Given the description of an element on the screen output the (x, y) to click on. 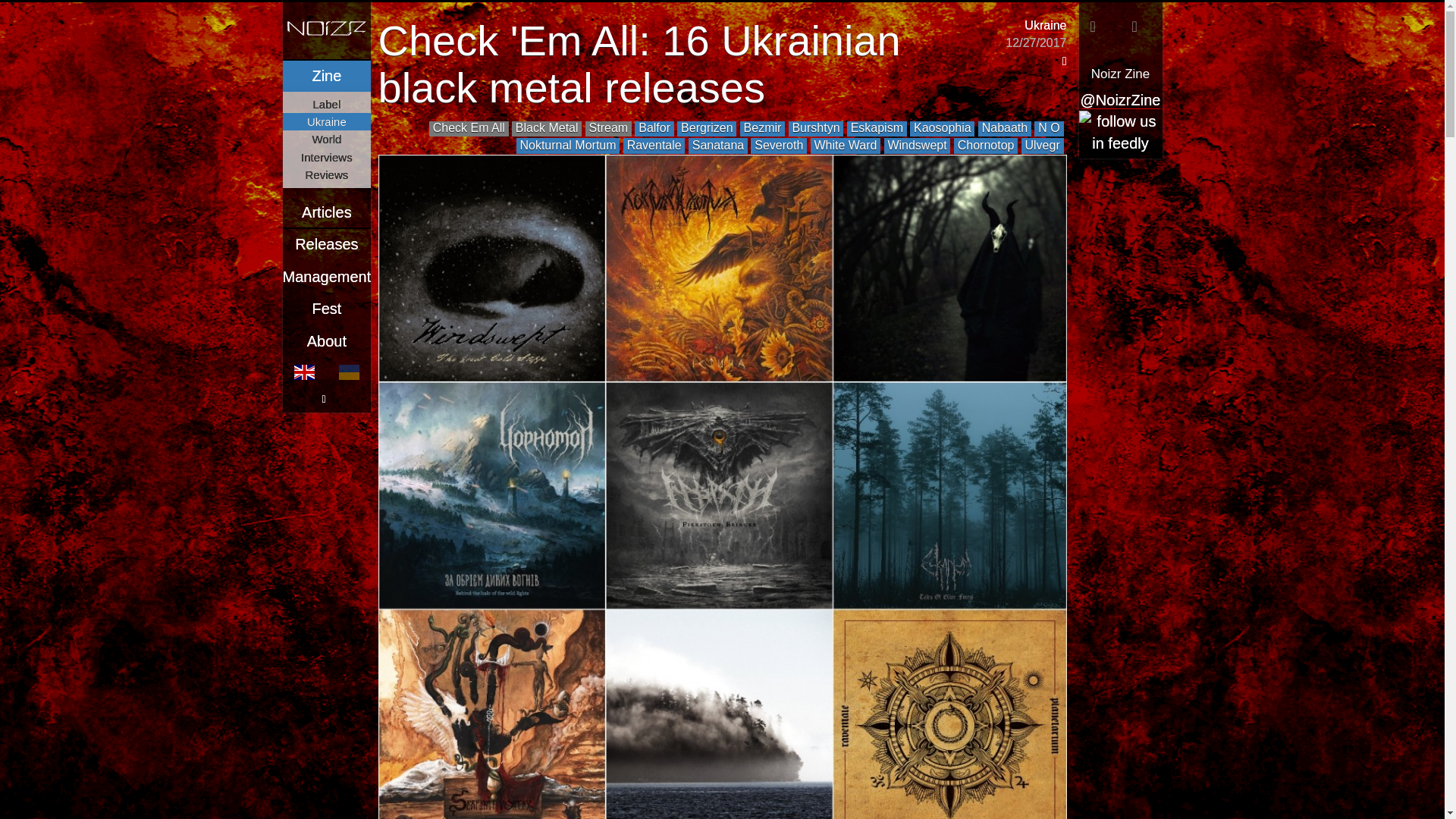
Reviews (326, 174)
Label (326, 104)
English (304, 372)
Fest (326, 308)
Releases (326, 244)
Ukraine (1045, 25)
Management (326, 276)
About (326, 341)
Articles (326, 212)
Zine (326, 75)
Ukraine (326, 121)
Interviews (326, 157)
World (326, 139)
